Given the description of an element on the screen output the (x, y) to click on. 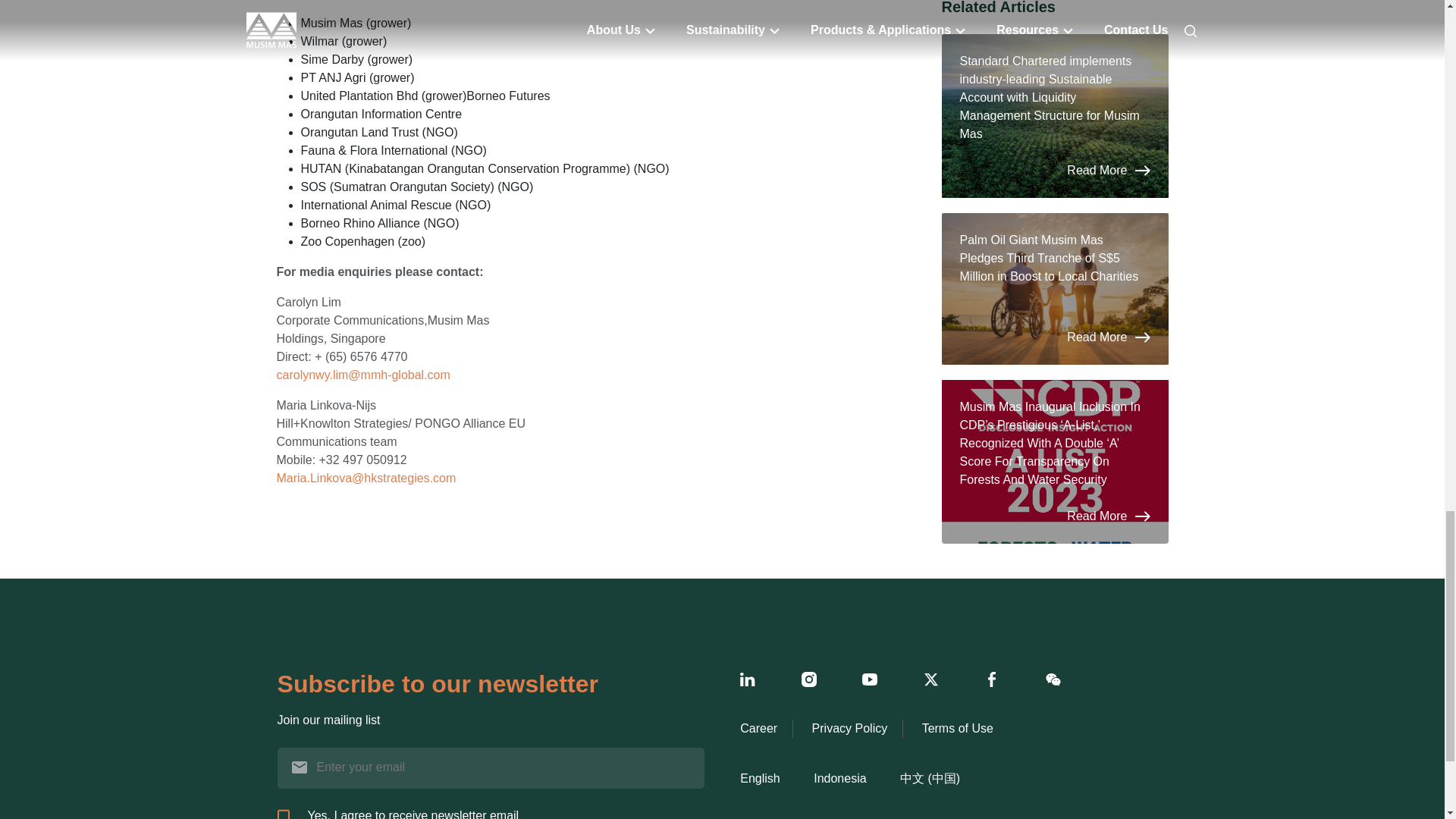
1 (283, 814)
